Given the description of an element on the screen output the (x, y) to click on. 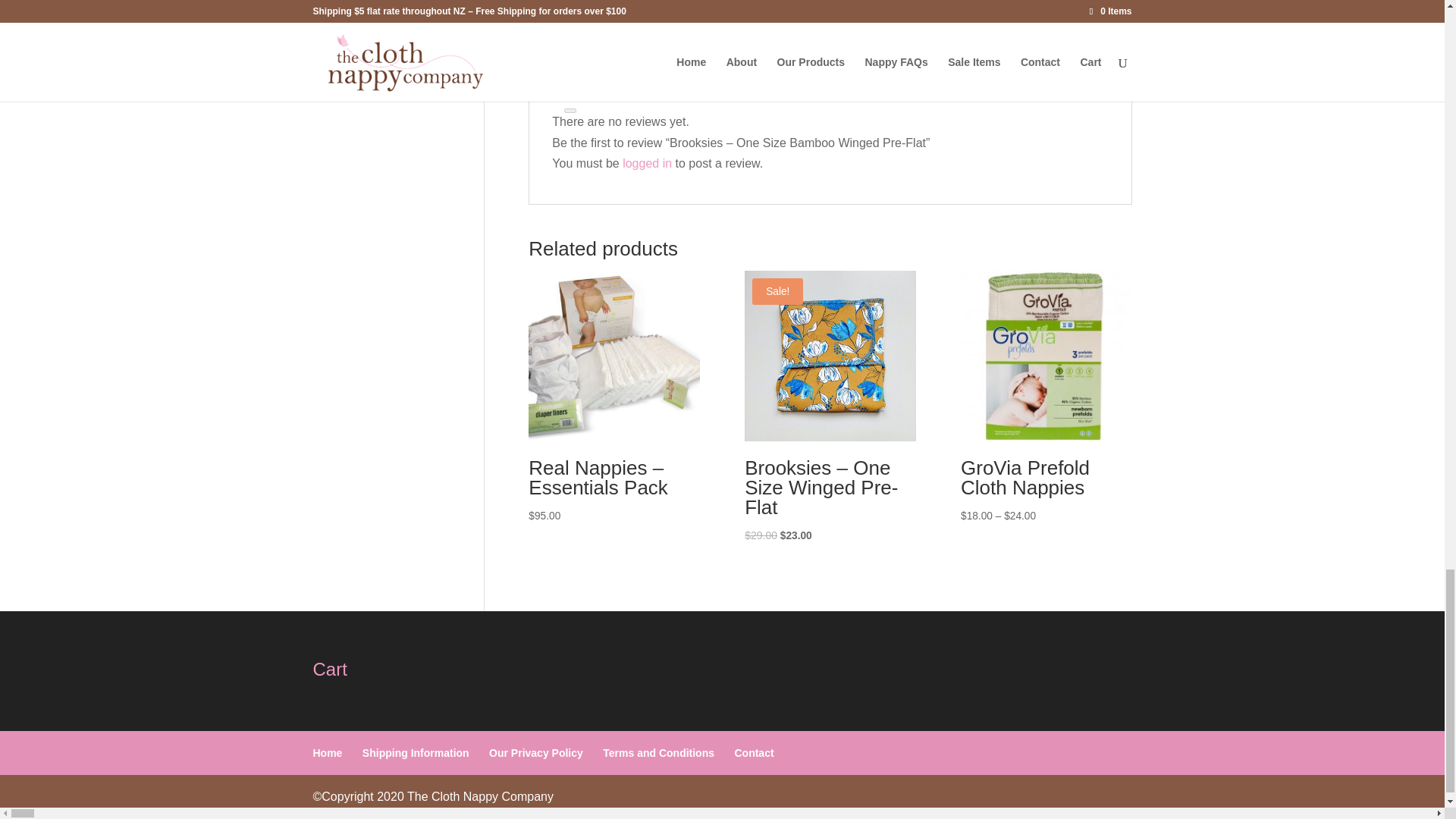
logged in (647, 163)
Mute (570, 90)
Play (570, 11)
Fullscreen (570, 110)
